Given the description of an element on the screen output the (x, y) to click on. 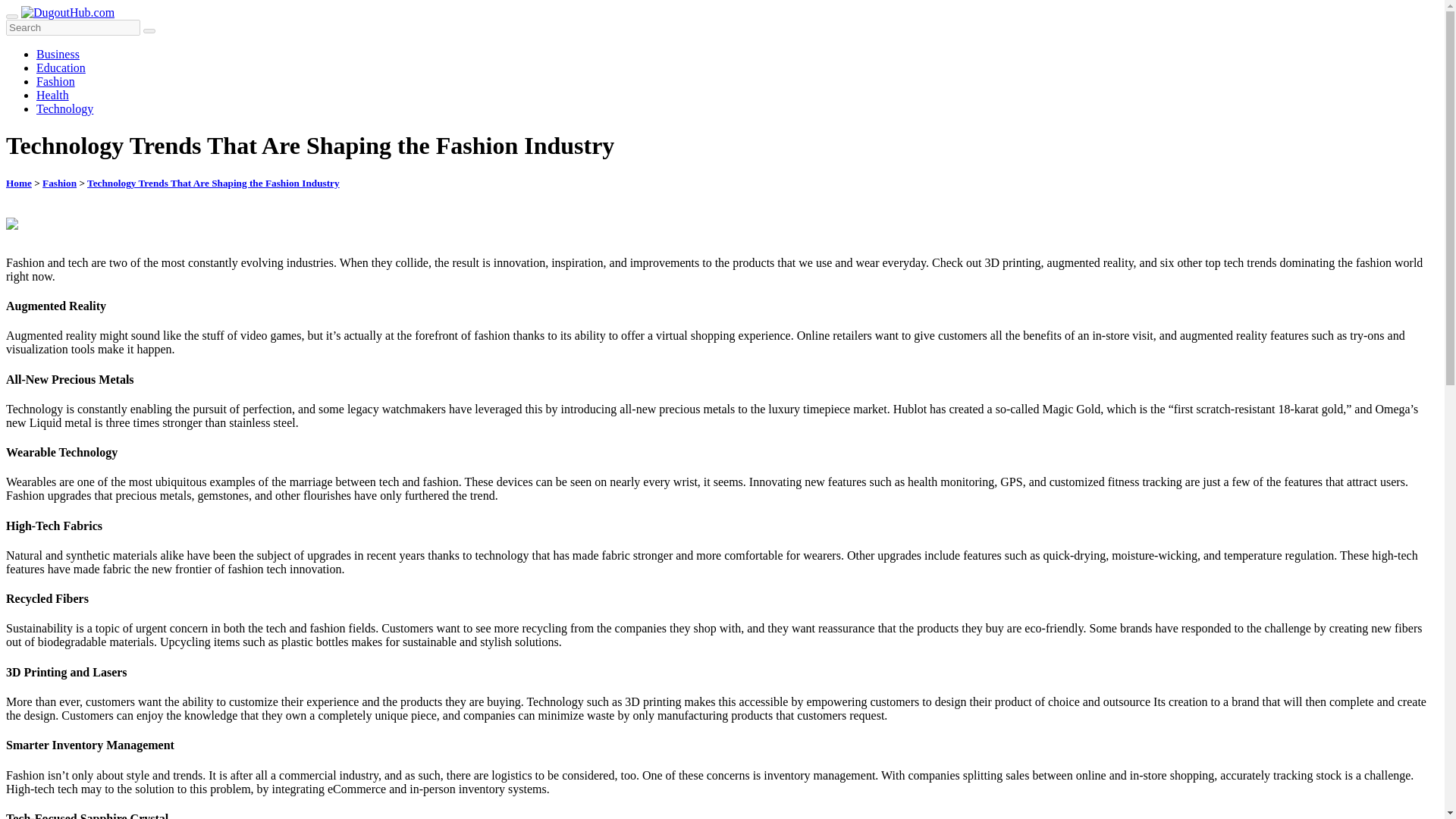
Home (18, 183)
Health (52, 94)
Business (58, 53)
Education (60, 67)
Fashion (55, 81)
Technology Trends That Are Shaping the Fashion Industry (213, 183)
Fashion (59, 183)
Technology (64, 108)
